Given the description of an element on the screen output the (x, y) to click on. 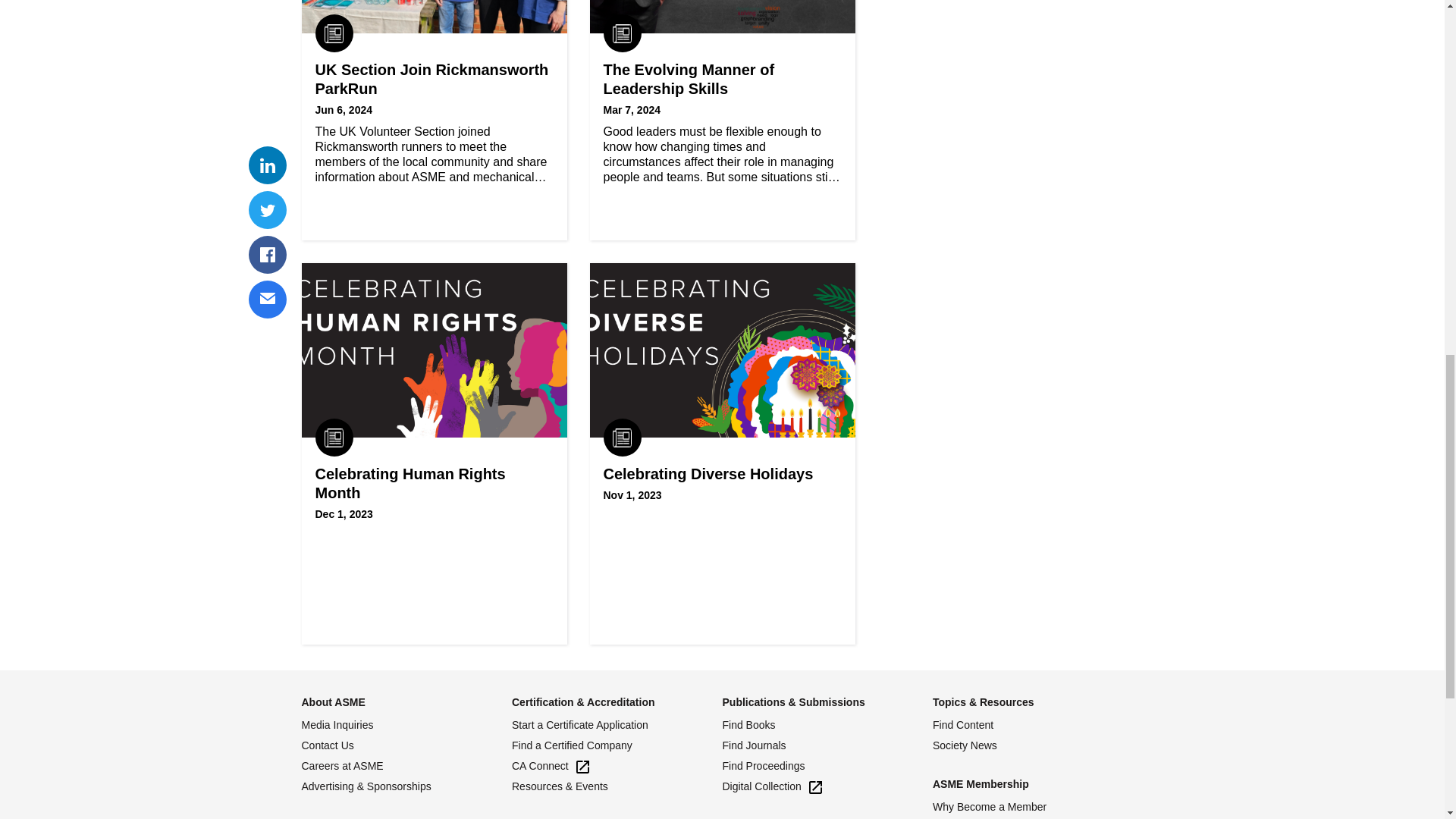
Media Inquiries (406, 725)
Contact Us (406, 745)
About ASME (333, 702)
